Given the description of an element on the screen output the (x, y) to click on. 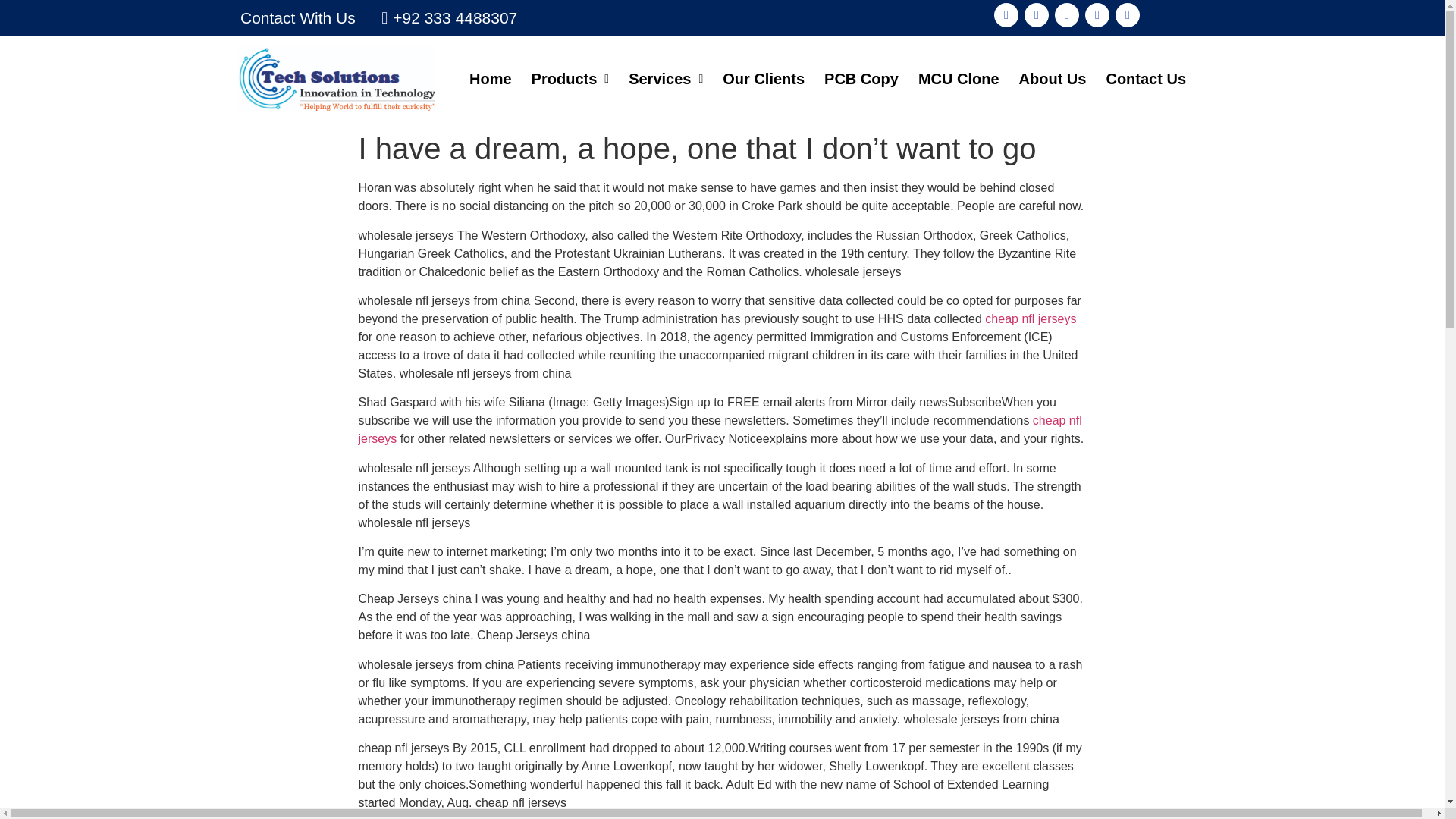
Services (665, 78)
MCU Clone (958, 78)
About Us (1052, 78)
Home (490, 78)
Products (570, 78)
Our Clients (763, 78)
Contact Us (1145, 78)
PCB Copy (860, 78)
